Given the description of an element on the screen output the (x, y) to click on. 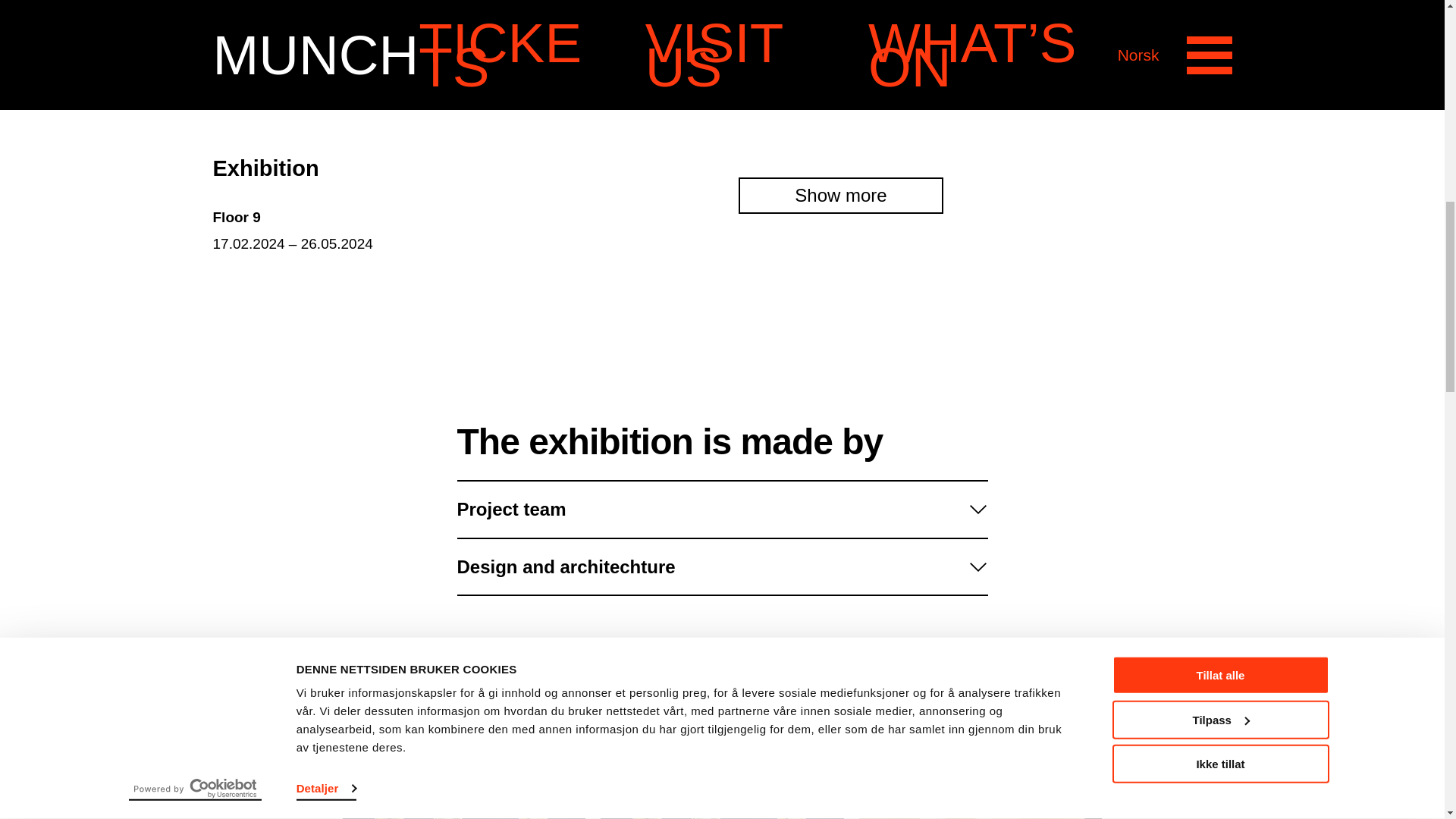
CORPUS INFINITUM: EMMA ARNOLD (464, 802)
CORPUS INFINITUM: THE MAJOR ARCANA (980, 802)
CORPUS INFINITUM: MARTA MBOKA TVEIT (721, 802)
